Given the description of an element on the screen output the (x, y) to click on. 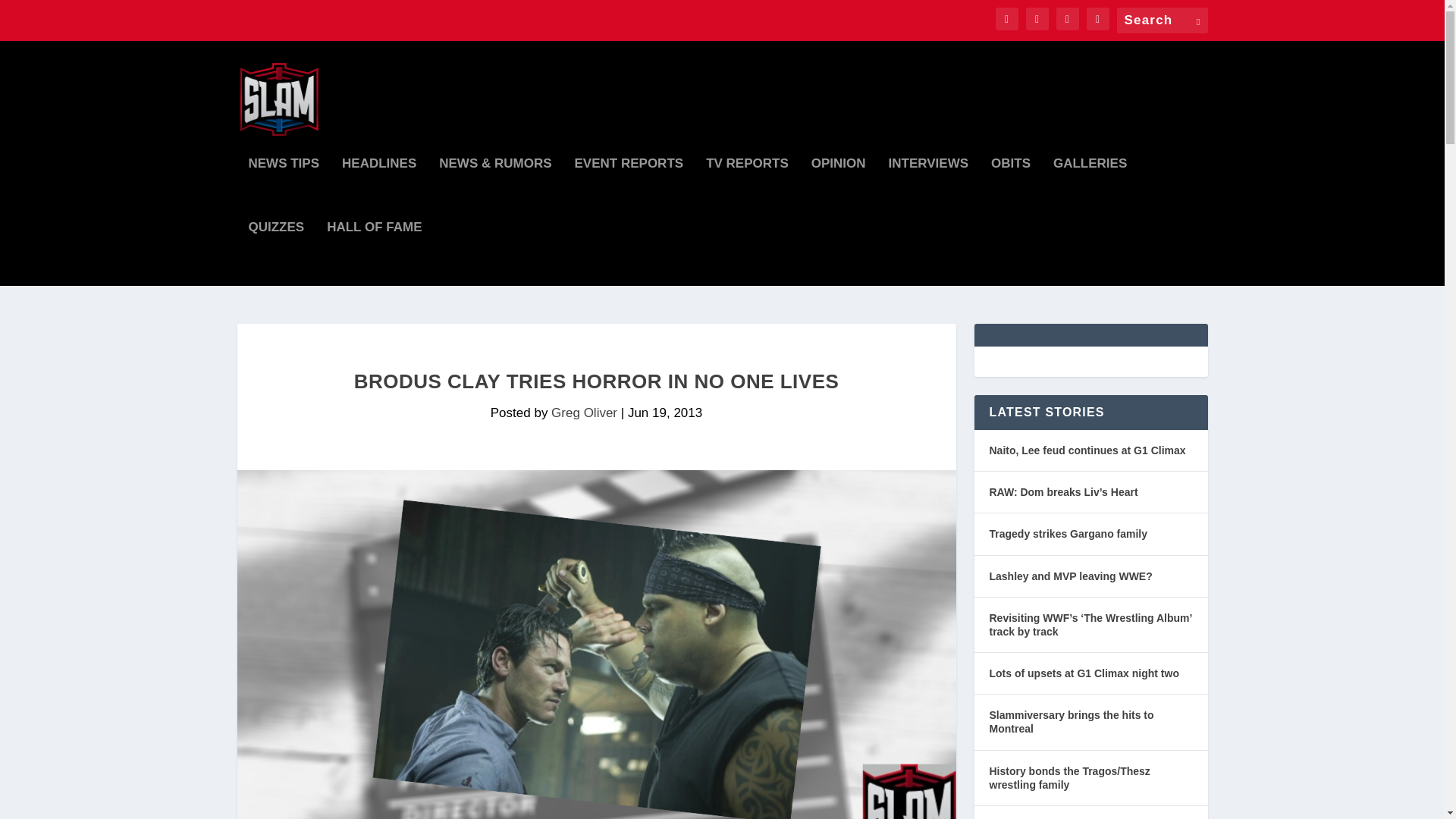
Search for: (1161, 20)
HALL OF FAME (374, 253)
TV REPORTS (747, 189)
EVENT REPORTS (629, 189)
INTERVIEWS (928, 189)
GALLERIES (1089, 189)
NEWS TIPS (284, 189)
HEADLINES (379, 189)
Posts by Greg Oliver (584, 412)
Greg Oliver (584, 412)
